Given the description of an element on the screen output the (x, y) to click on. 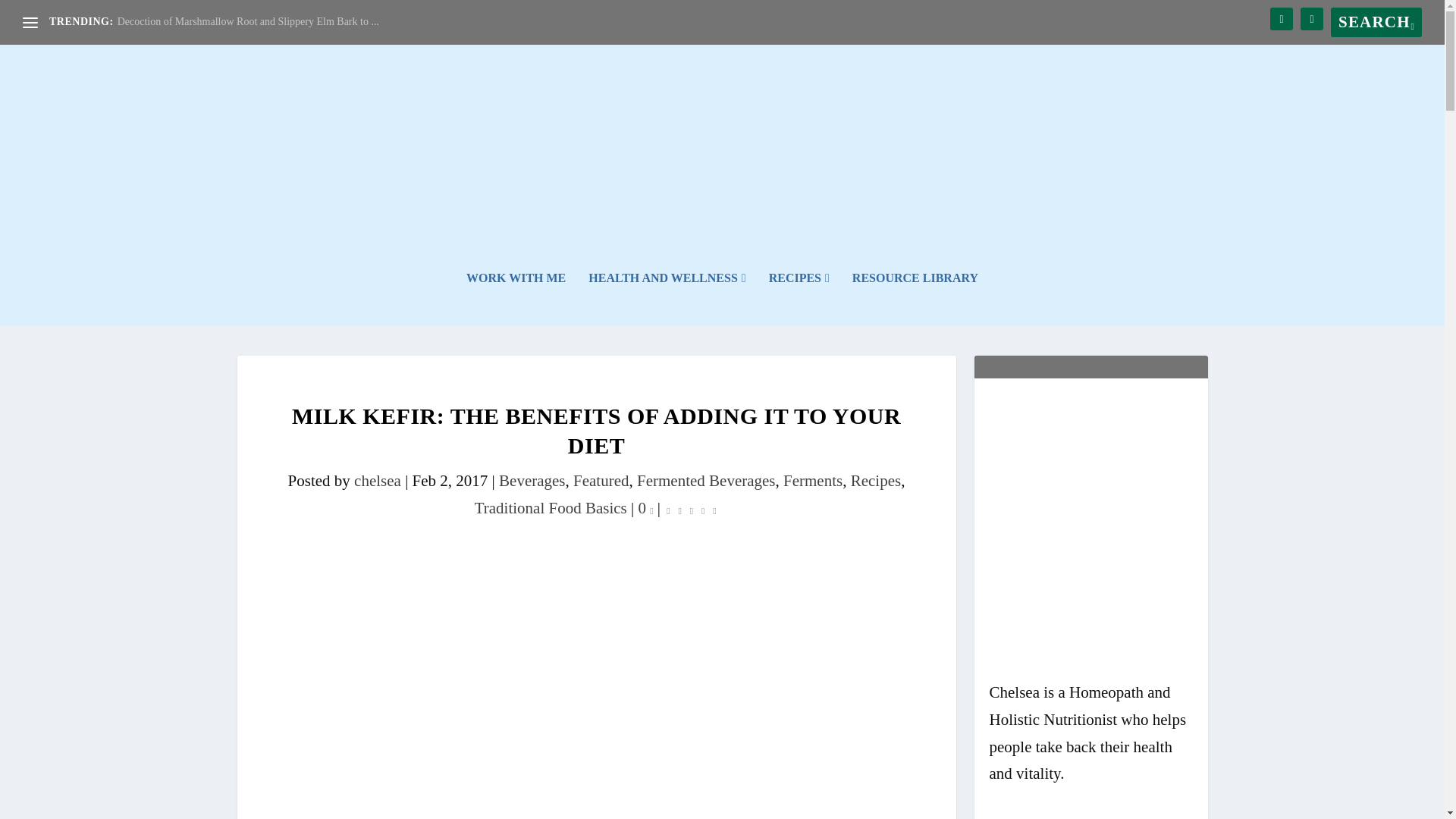
Rating: 4.50 (690, 509)
WORK WITH ME (515, 298)
Decoction of Marshmallow Root and Slippery Elm Bark to ... (247, 21)
Traditional Food Basics (550, 507)
RESOURCE LIBRARY (914, 298)
Beverages (531, 480)
Search for: (1376, 21)
RECIPES (798, 298)
chelsea (377, 480)
Posts by chelsea (377, 480)
